Given the description of an element on the screen output the (x, y) to click on. 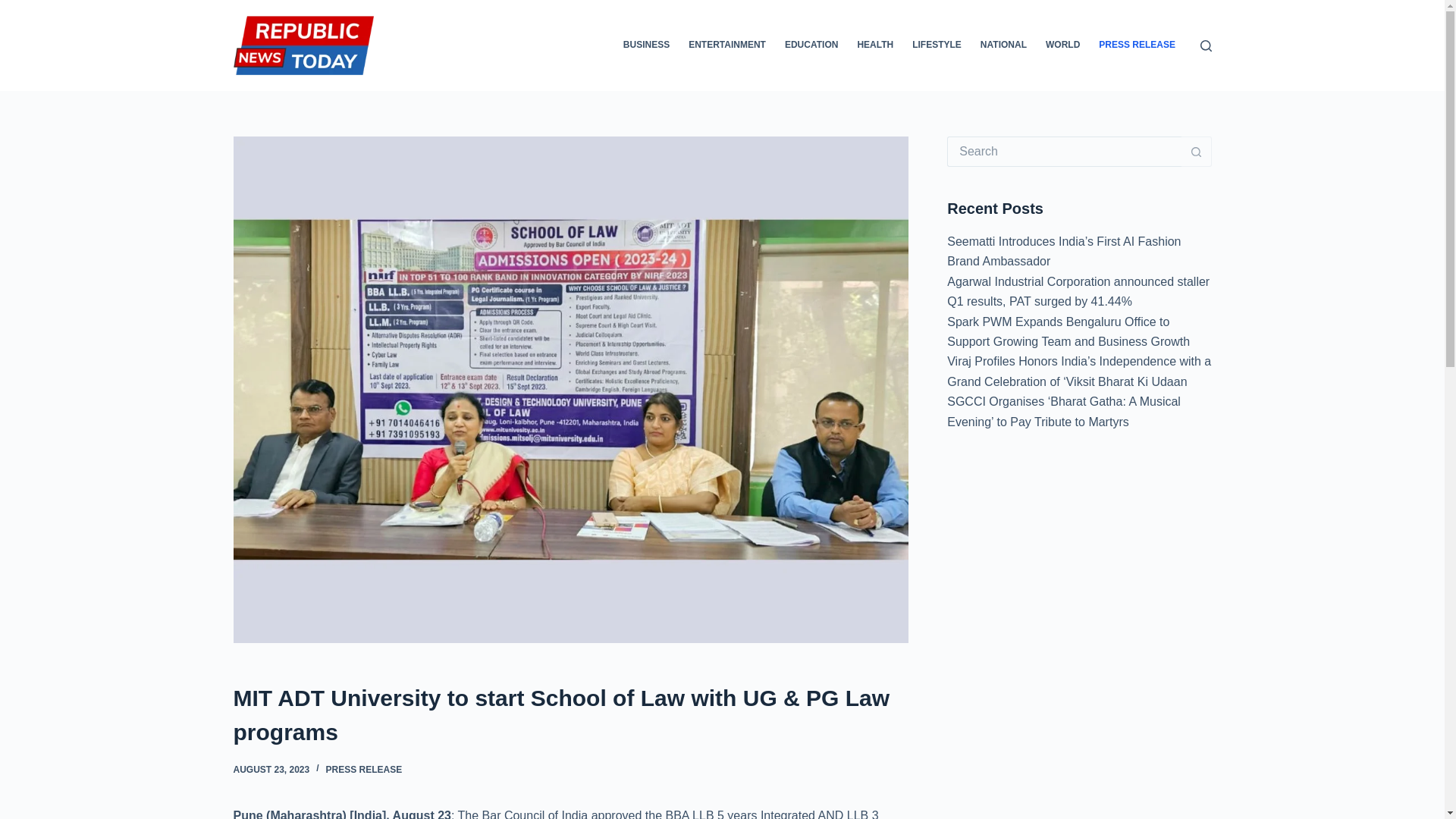
Search for... (1063, 151)
Skip to content (15, 7)
PRESS RELEASE (364, 769)
ENTERTAINMENT (727, 45)
PRESS RELEASE (1137, 45)
